Given the description of an element on the screen output the (x, y) to click on. 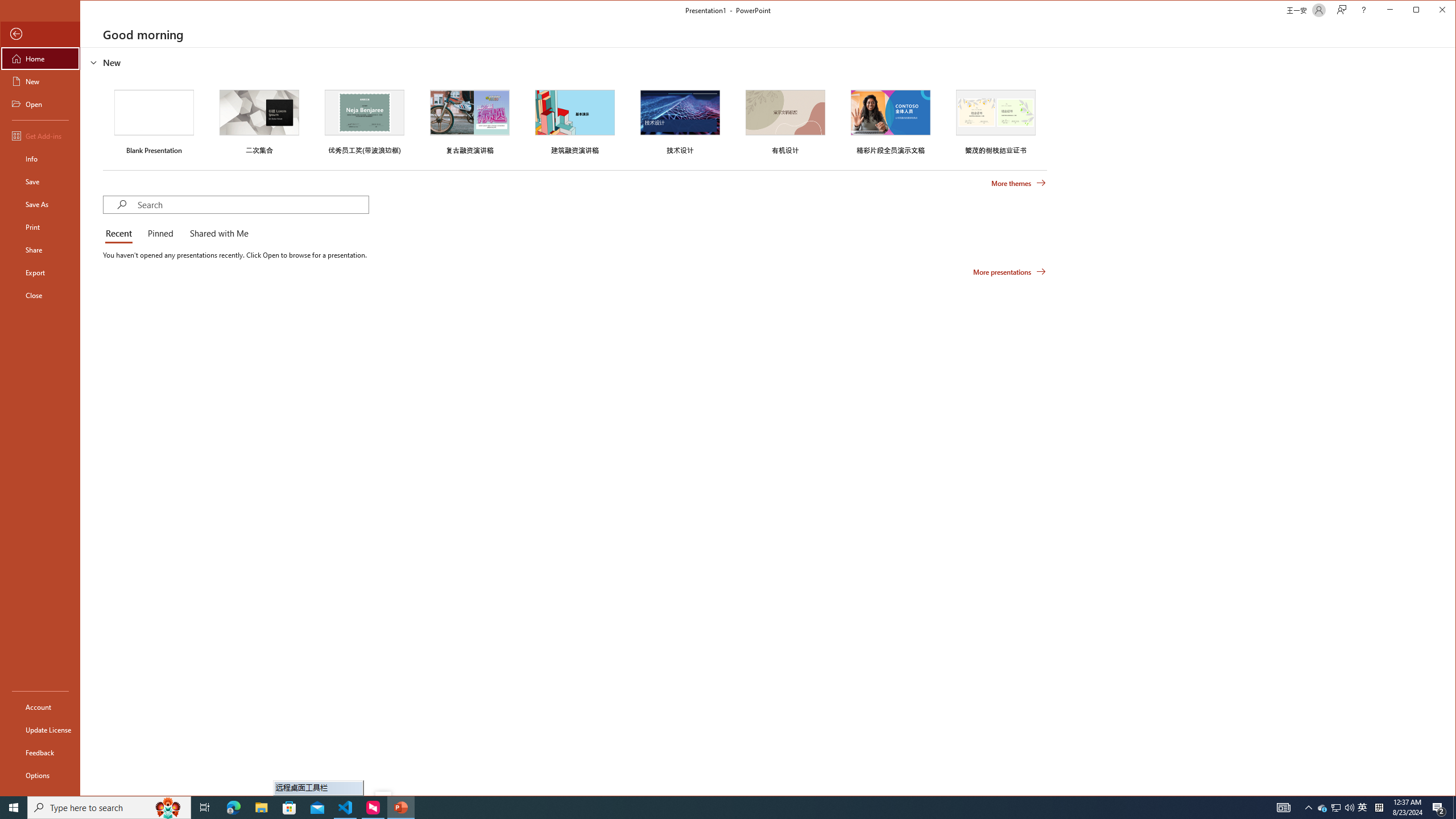
Hide or show region (93, 62)
Save As (40, 203)
